Given the description of an element on the screen output the (x, y) to click on. 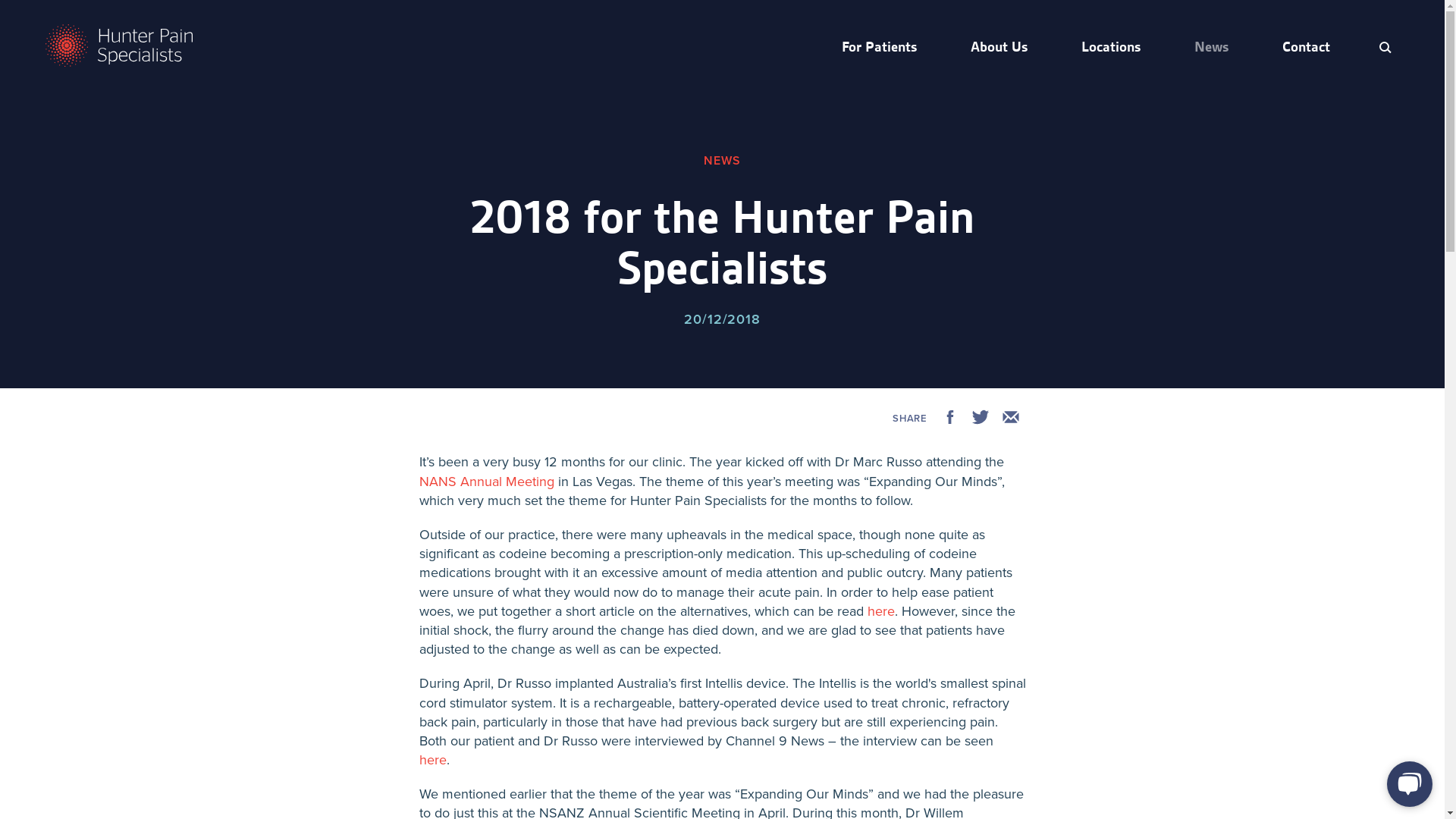
News Element type: text (1210, 46)
here Element type: text (880, 610)
About Us Element type: text (998, 46)
Locations Element type: text (1110, 46)
NEWS Element type: text (721, 160)
For Patients Element type: text (879, 46)
Contact Element type: text (1305, 46)
NANS Annual Meeting Element type: text (485, 481)
here Element type: text (431, 759)
